Given the description of an element on the screen output the (x, y) to click on. 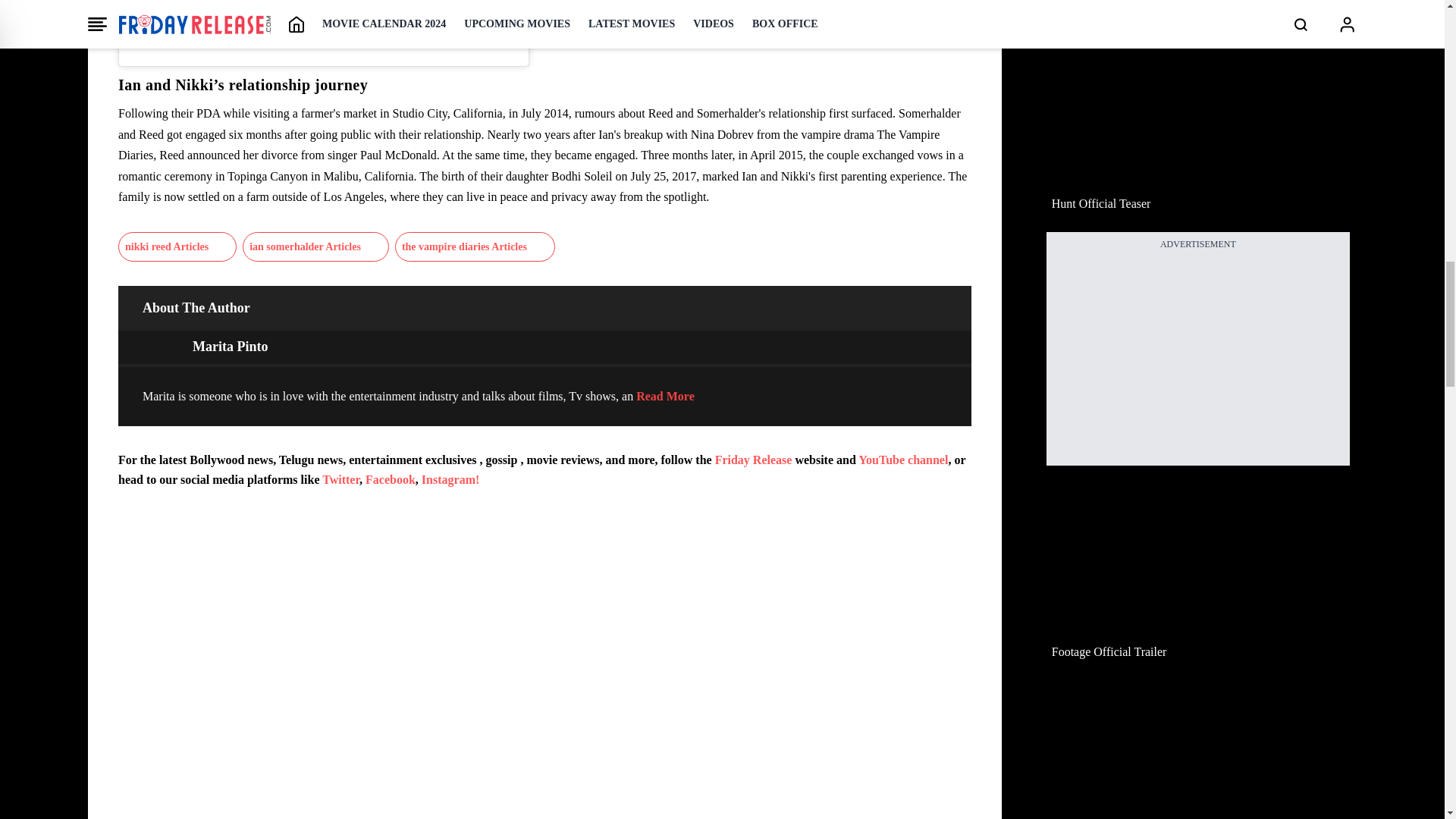
Twitter Page (340, 479)
Instagram Page (450, 479)
Facebook Page (389, 479)
